Given the description of an element on the screen output the (x, y) to click on. 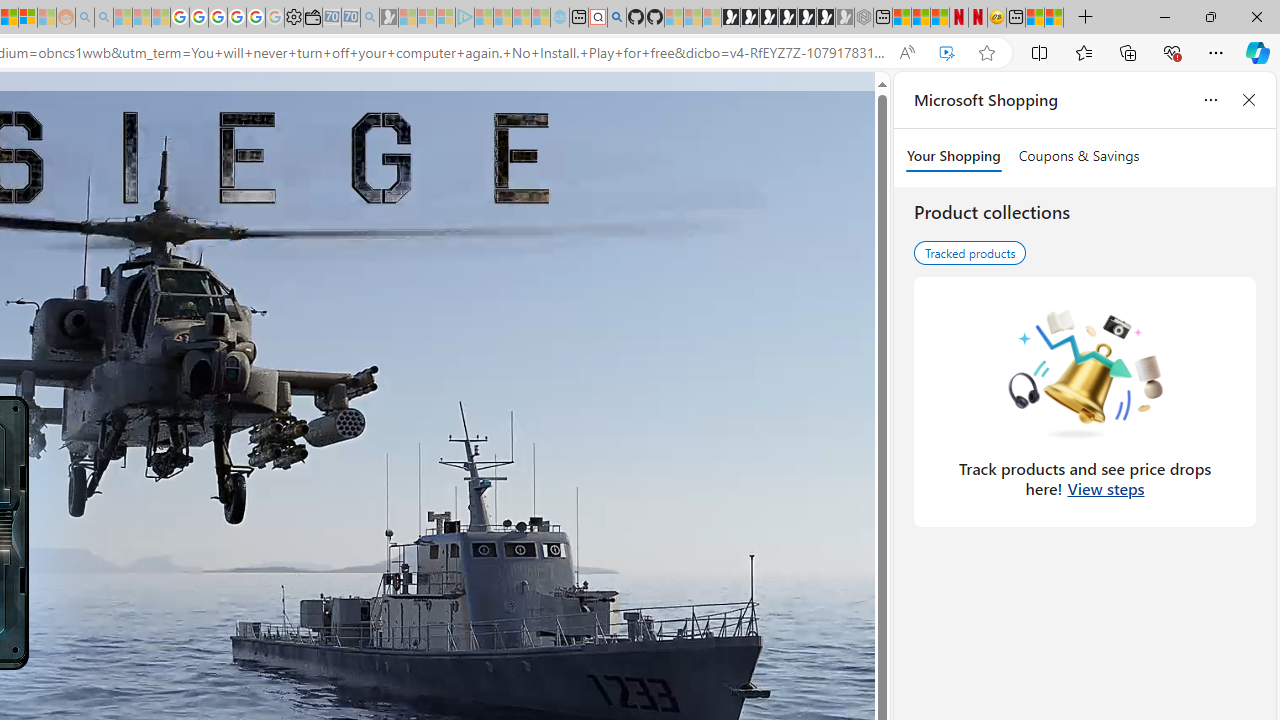
Enhance video (946, 53)
Utah sues federal government - Search - Sleeping (103, 17)
